Given the description of an element on the screen output the (x, y) to click on. 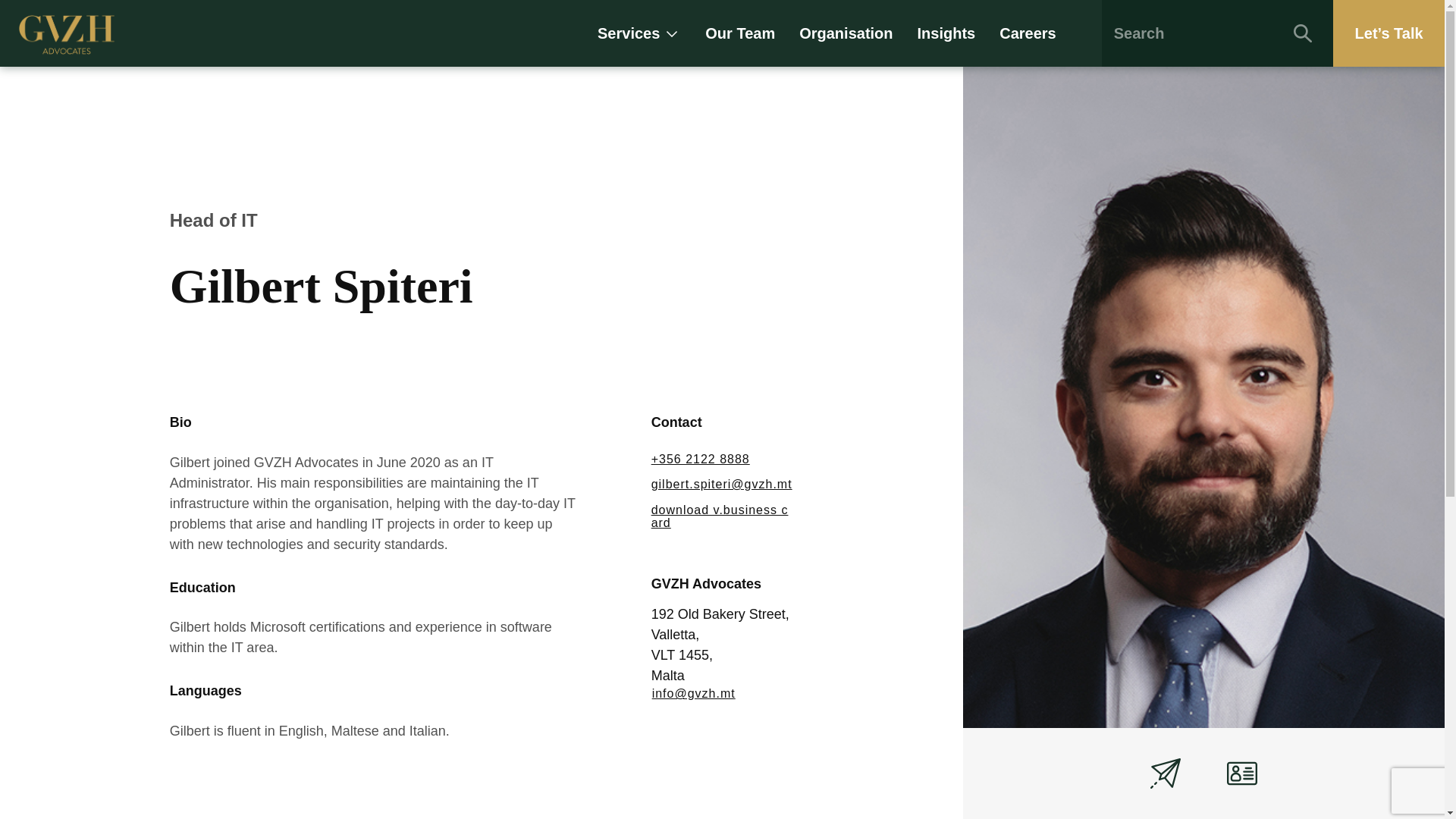
Our Team (739, 33)
Services (638, 33)
Services (638, 33)
